Given the description of an element on the screen output the (x, y) to click on. 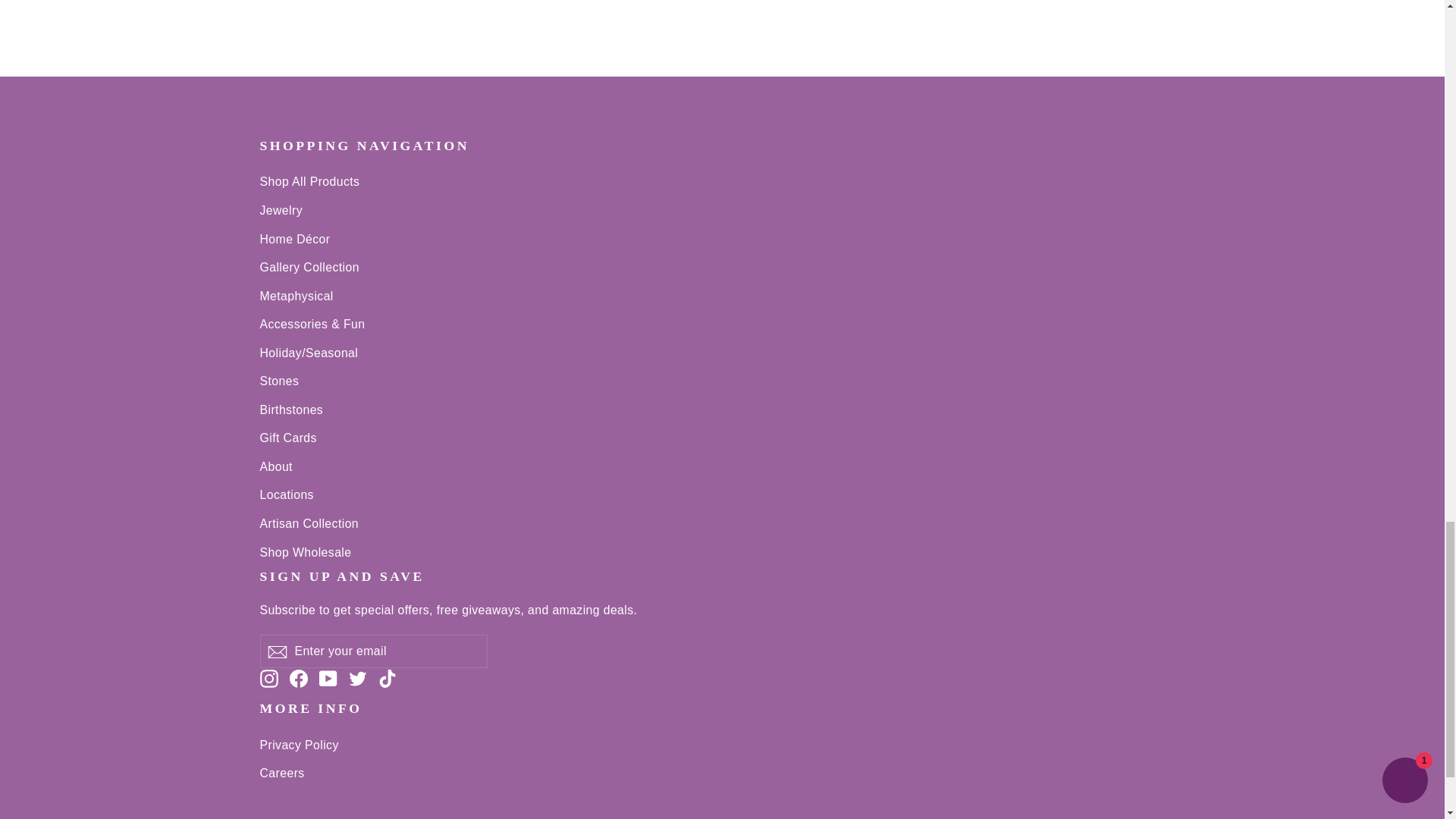
Crystal Joys on Facebook (298, 678)
Crystal Joys on YouTube (327, 678)
Crystal Joys on Twitter (357, 678)
